Given the description of an element on the screen output the (x, y) to click on. 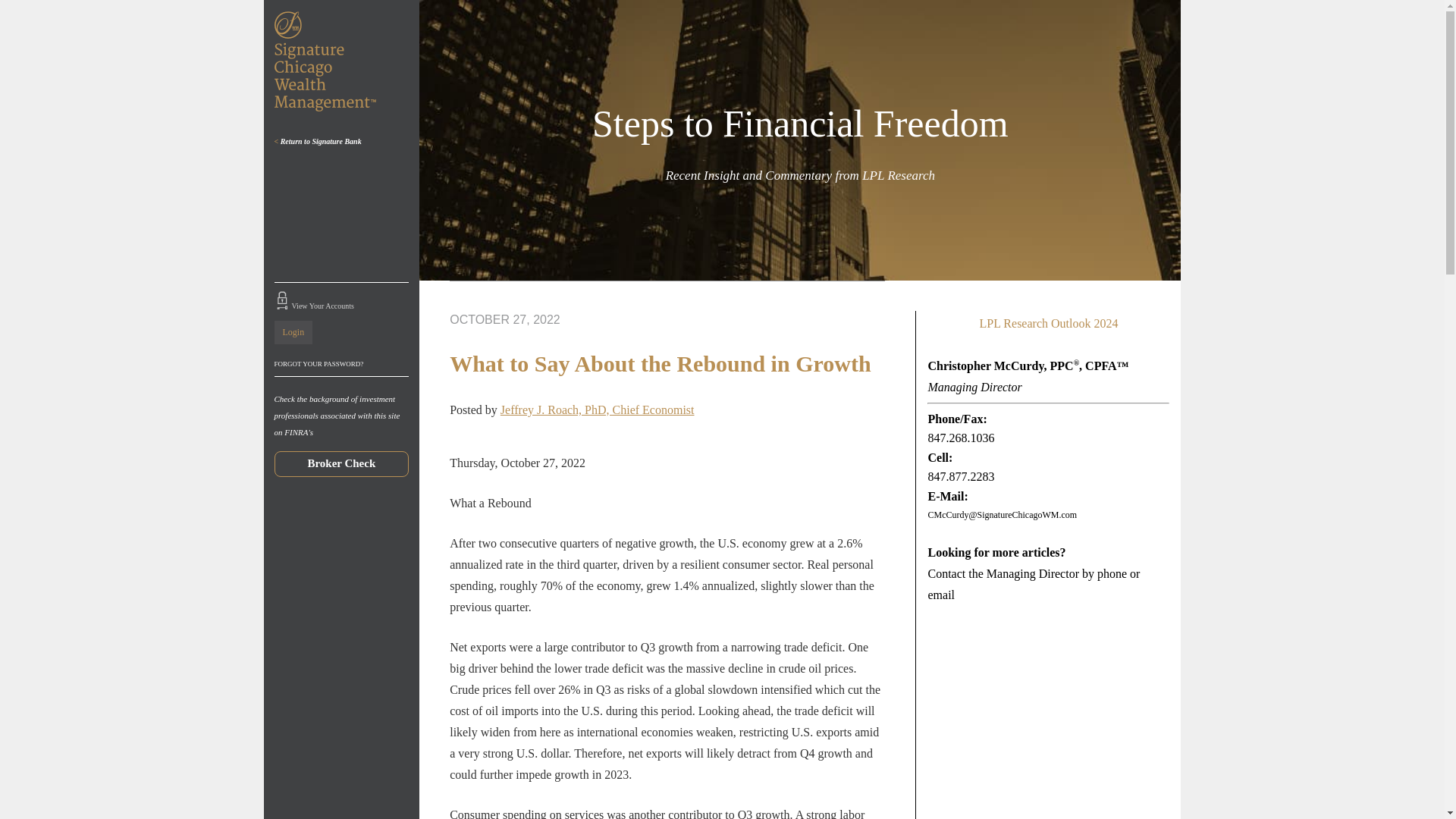
FORGOT YOUR PASSWORD? (342, 364)
Login (294, 331)
847.877.2283 (960, 476)
847.268.1036 (960, 437)
LPL Research Outlook 2024 (1048, 324)
Jeffrey J. Roach, PhD, Chief Economist (597, 409)
Broker Check (342, 463)
